Given the description of an element on the screen output the (x, y) to click on. 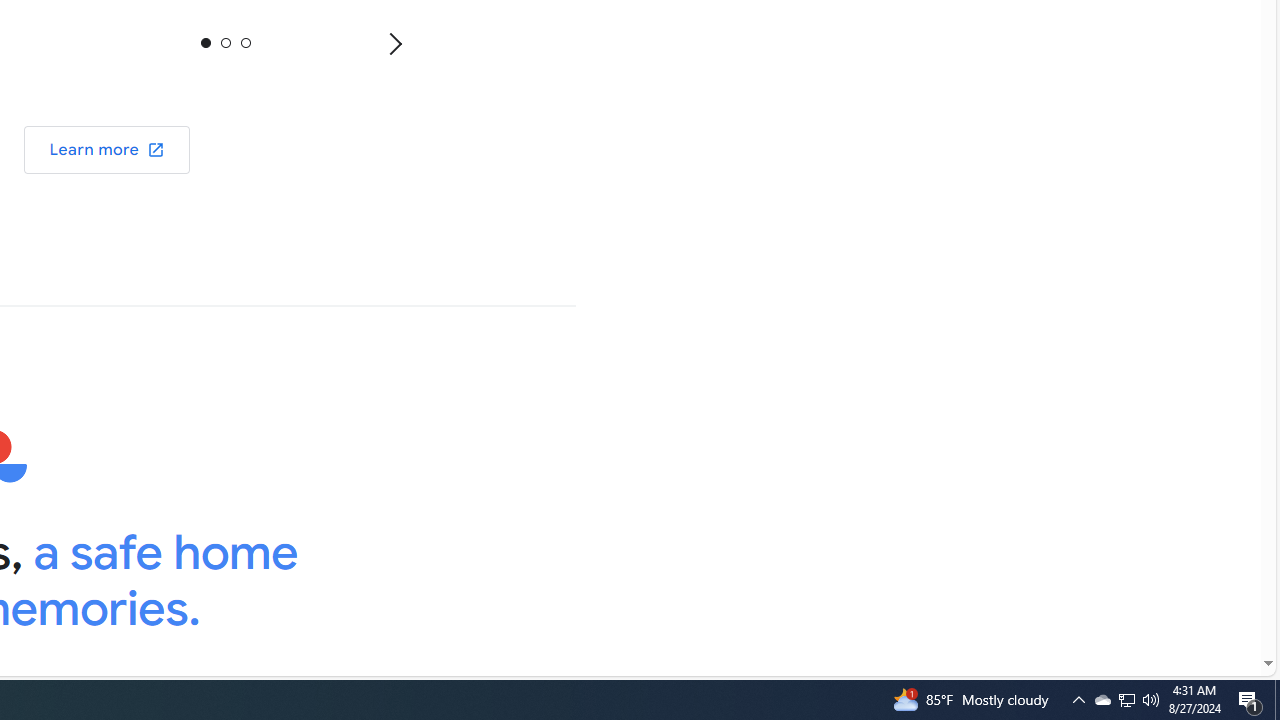
0 (205, 42)
1 (225, 42)
Next (394, 43)
2 (244, 42)
Learn more about YouTube (107, 149)
